Given the description of an element on the screen output the (x, y) to click on. 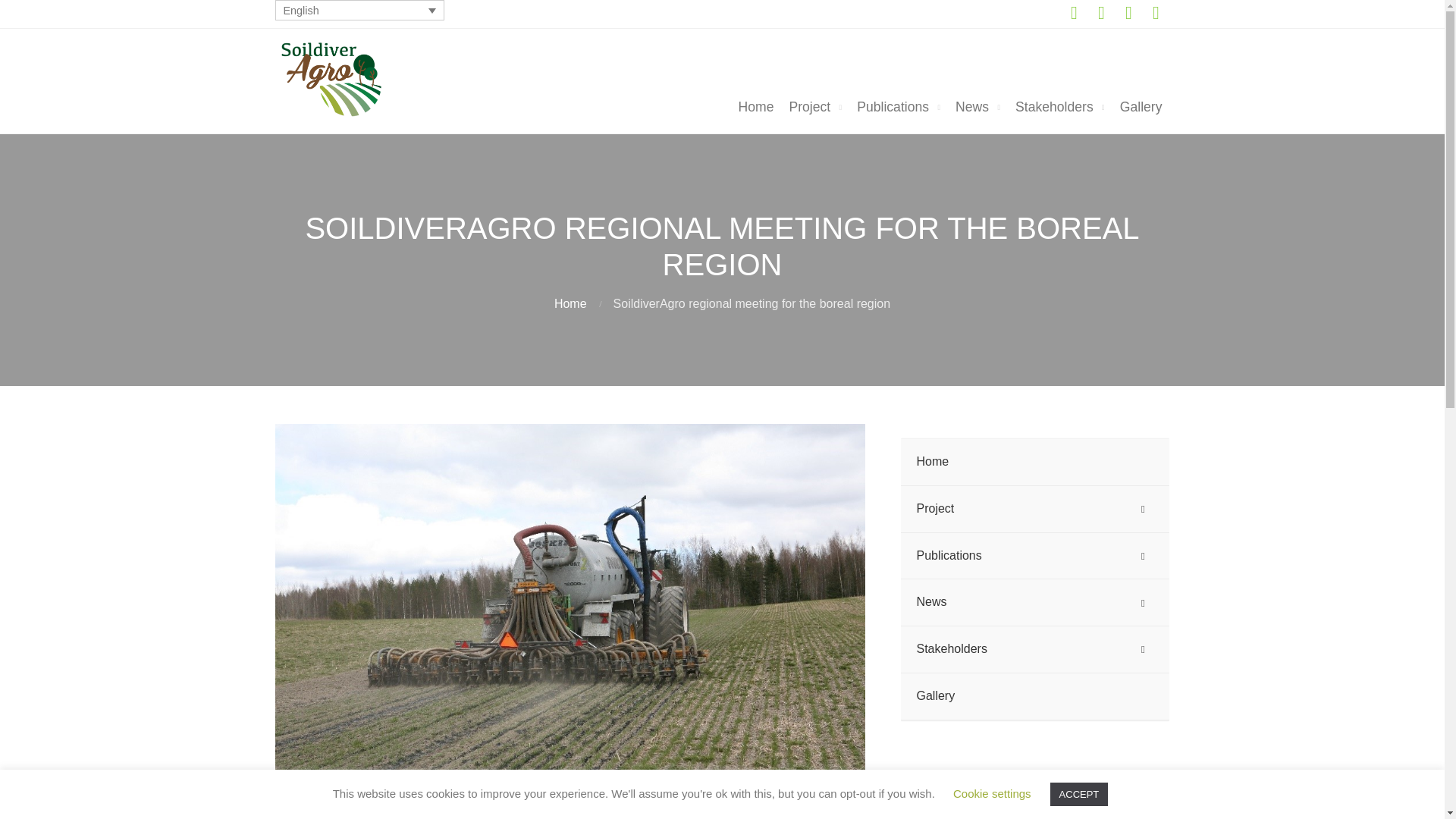
YouTube (1128, 13)
Facebook (1073, 13)
Project (814, 107)
LinkedIn (1155, 13)
News (977, 107)
Publications (897, 107)
English (359, 10)
Home (755, 107)
Twitter (1101, 13)
